Given the description of an element on the screen output the (x, y) to click on. 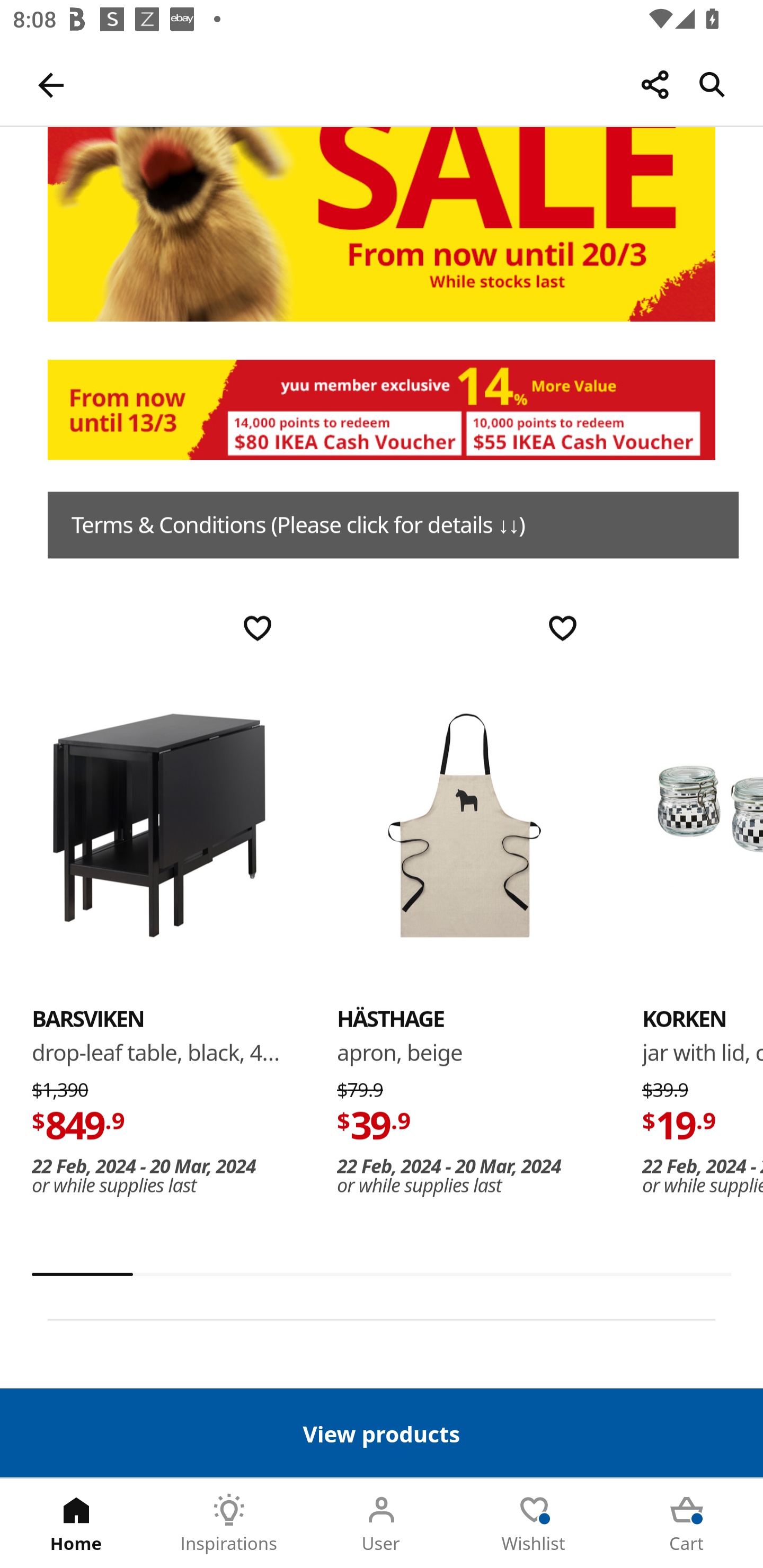
Terms & Conditions (Please click for details ↓↓) (393, 525)
BARSVIKEN (159, 825)
HÄSTHAGE (464, 825)
KORKEN (702, 825)
BARSVIKEN (88, 1019)
HÄSTHAGE (390, 1019)
KORKEN (684, 1019)
View products (381, 1432)
Home
Tab 1 of 5 (76, 1522)
Inspirations
Tab 2 of 5 (228, 1522)
User
Tab 3 of 5 (381, 1522)
Wishlist
Tab 4 of 5 (533, 1522)
Cart
Tab 5 of 5 (686, 1522)
